Given the description of an element on the screen output the (x, y) to click on. 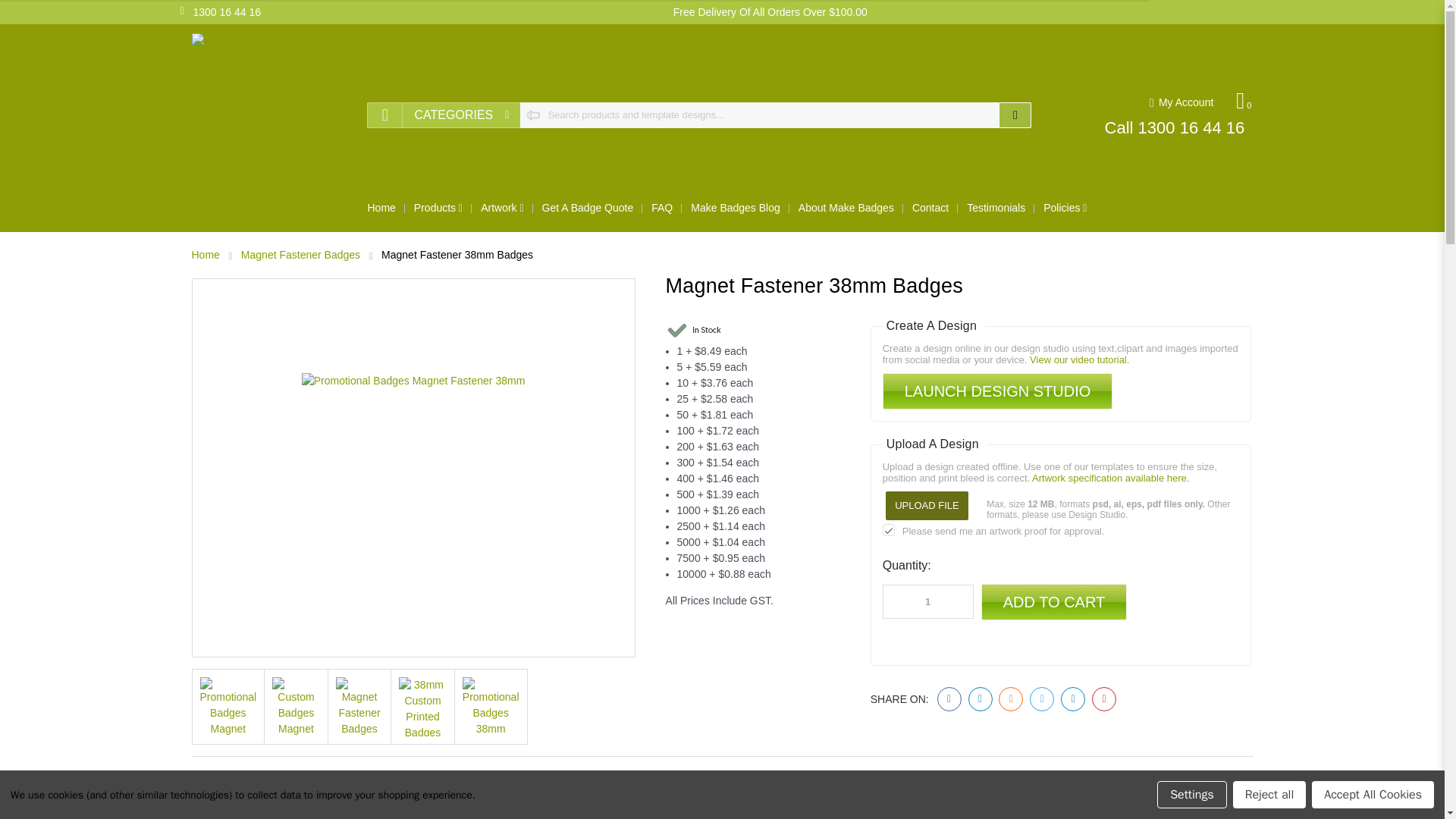
1300 16 44 16 (221, 12)
Add to Cart (1053, 601)
Search (1014, 114)
Launch Design Studio (997, 391)
Promotional Badges 38mm (491, 706)
Search (1014, 114)
5.00 Stars (247, 789)
1 (928, 601)
Promotional Badges Magnet Fastener 38mm (228, 706)
